Given the description of an element on the screen output the (x, y) to click on. 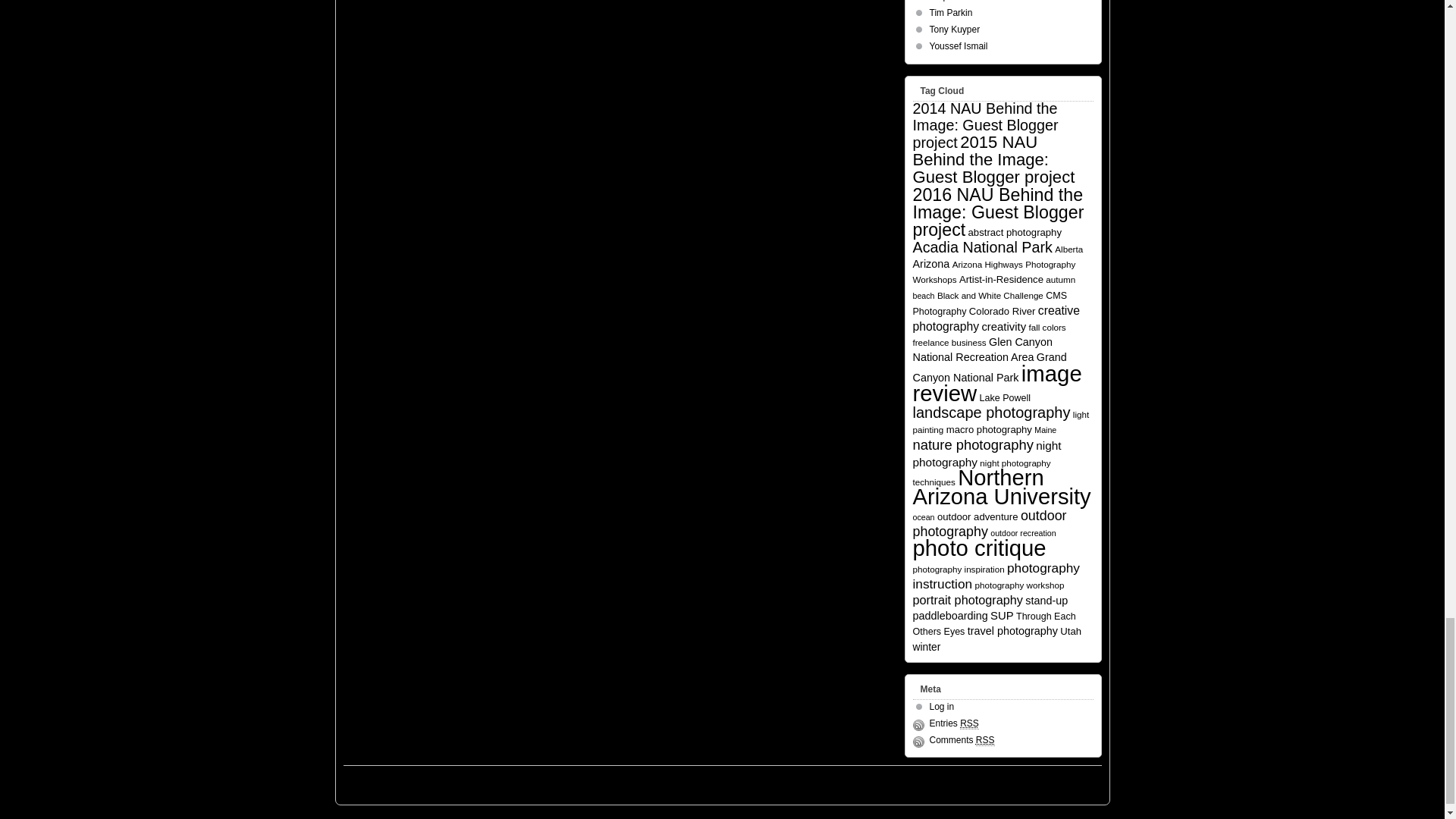
Syndicate this site using RSS 2.0 (954, 723)
The latest comments to all posts in RSS (962, 740)
Really Simple Syndication (968, 723)
